Given the description of an element on the screen output the (x, y) to click on. 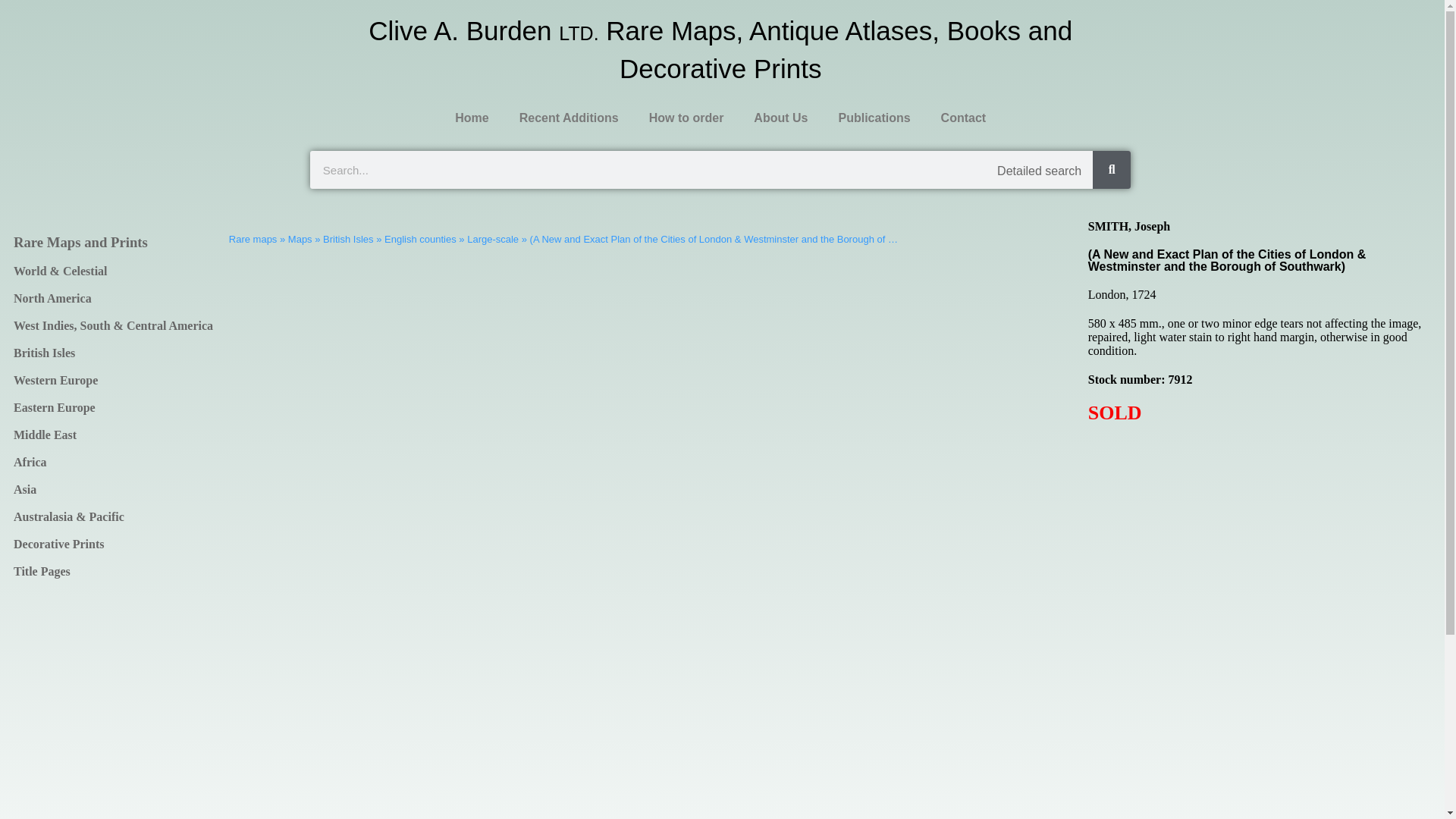
Recent Additions (568, 117)
Publications (873, 117)
How to order (686, 117)
Detailed search (1039, 170)
About Us (780, 117)
Home (471, 117)
Contact (963, 117)
British Isles (113, 353)
North America (113, 298)
